Given the description of an element on the screen output the (x, y) to click on. 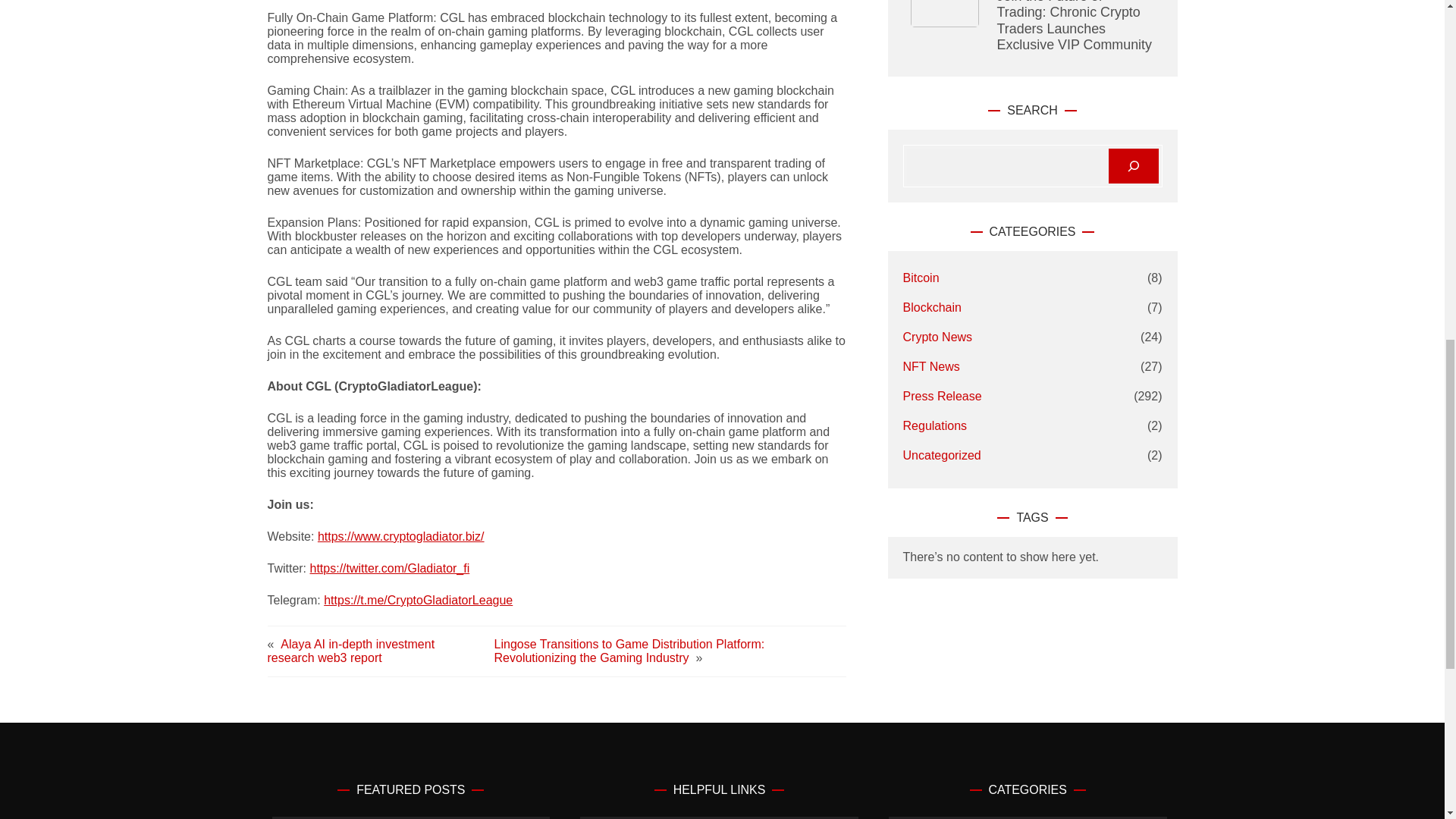
Blockchain (931, 307)
Alaya AI in-depth investment research web3 report (349, 651)
NFT News (930, 366)
Uncategorized (941, 455)
Regulations (935, 426)
Bitcoin (920, 278)
Press Release (941, 396)
Crypto News (937, 337)
